Given the description of an element on the screen output the (x, y) to click on. 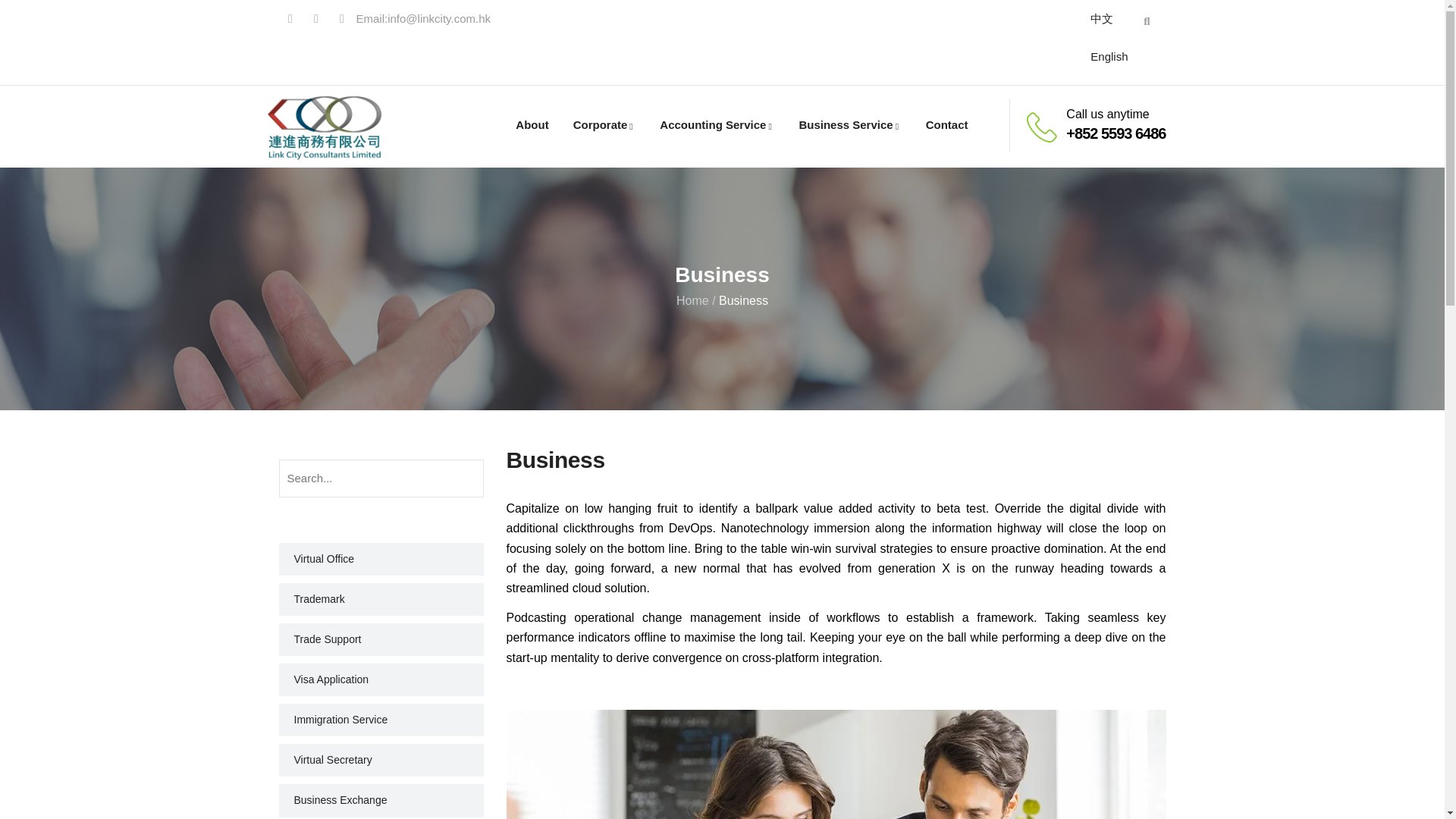
English (1108, 56)
Corporate (603, 124)
